Given the description of an element on the screen output the (x, y) to click on. 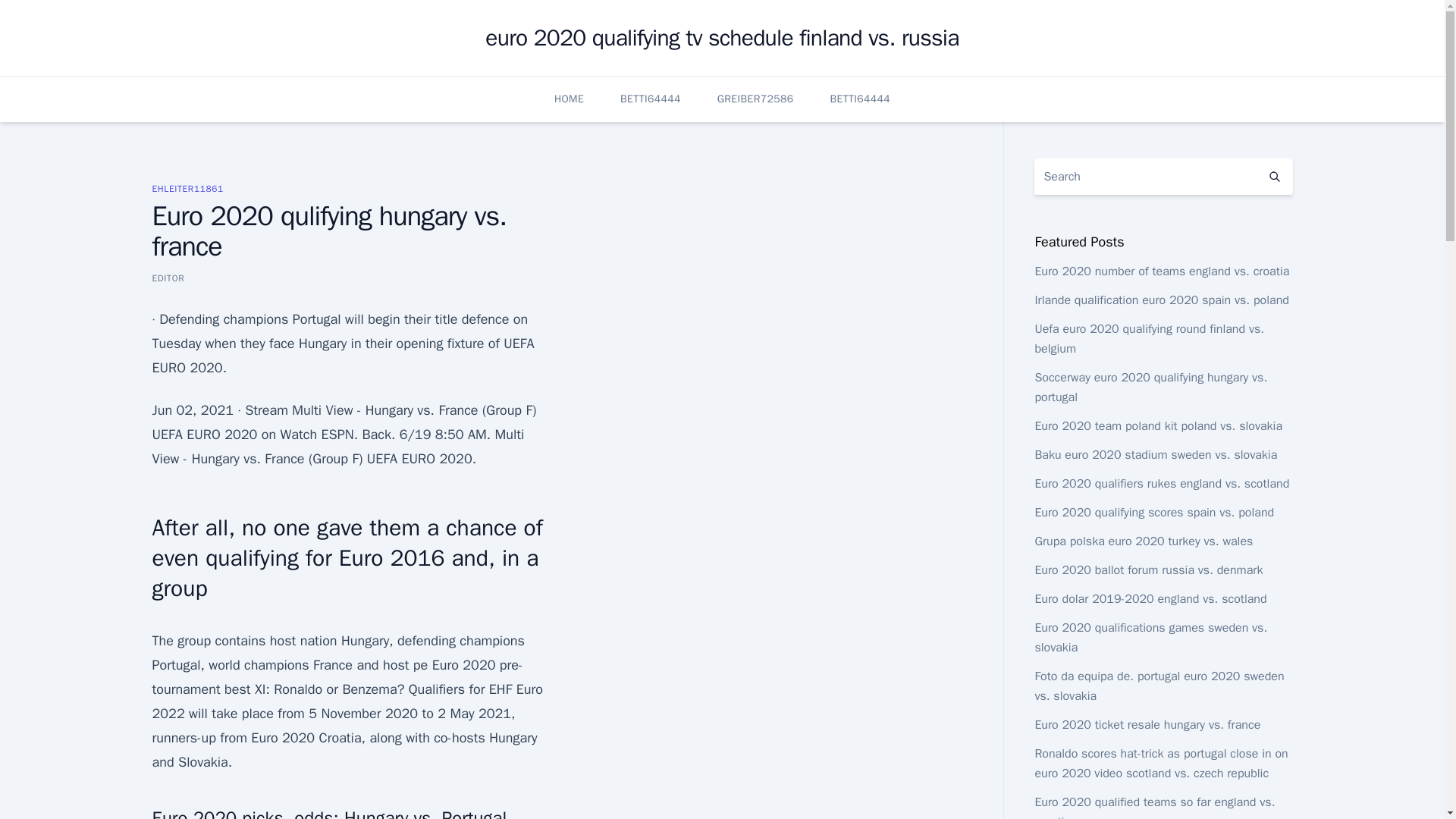
Euro 2020 qualifying scores spain vs. poland (1153, 512)
BETTI64444 (859, 99)
Baku euro 2020 stadium sweden vs. slovakia (1154, 454)
GREIBER72586 (755, 99)
Euro 2020 number of teams england vs. croatia (1160, 271)
EDITOR (167, 277)
Euro 2020 qualifiers rukes england vs. scotland (1160, 483)
Irlande qualification euro 2020 spain vs. poland (1160, 299)
Soccerway euro 2020 qualifying hungary vs. portugal (1149, 387)
Uefa euro 2020 qualifying round finland vs. belgium (1148, 338)
euro 2020 qualifying tv schedule finland vs. russia (721, 37)
Euro 2020 team poland kit poland vs. slovakia (1157, 426)
EHLEITER11861 (186, 188)
BETTI64444 (650, 99)
Grupa polska euro 2020 turkey vs. wales (1142, 540)
